Given the description of an element on the screen output the (x, y) to click on. 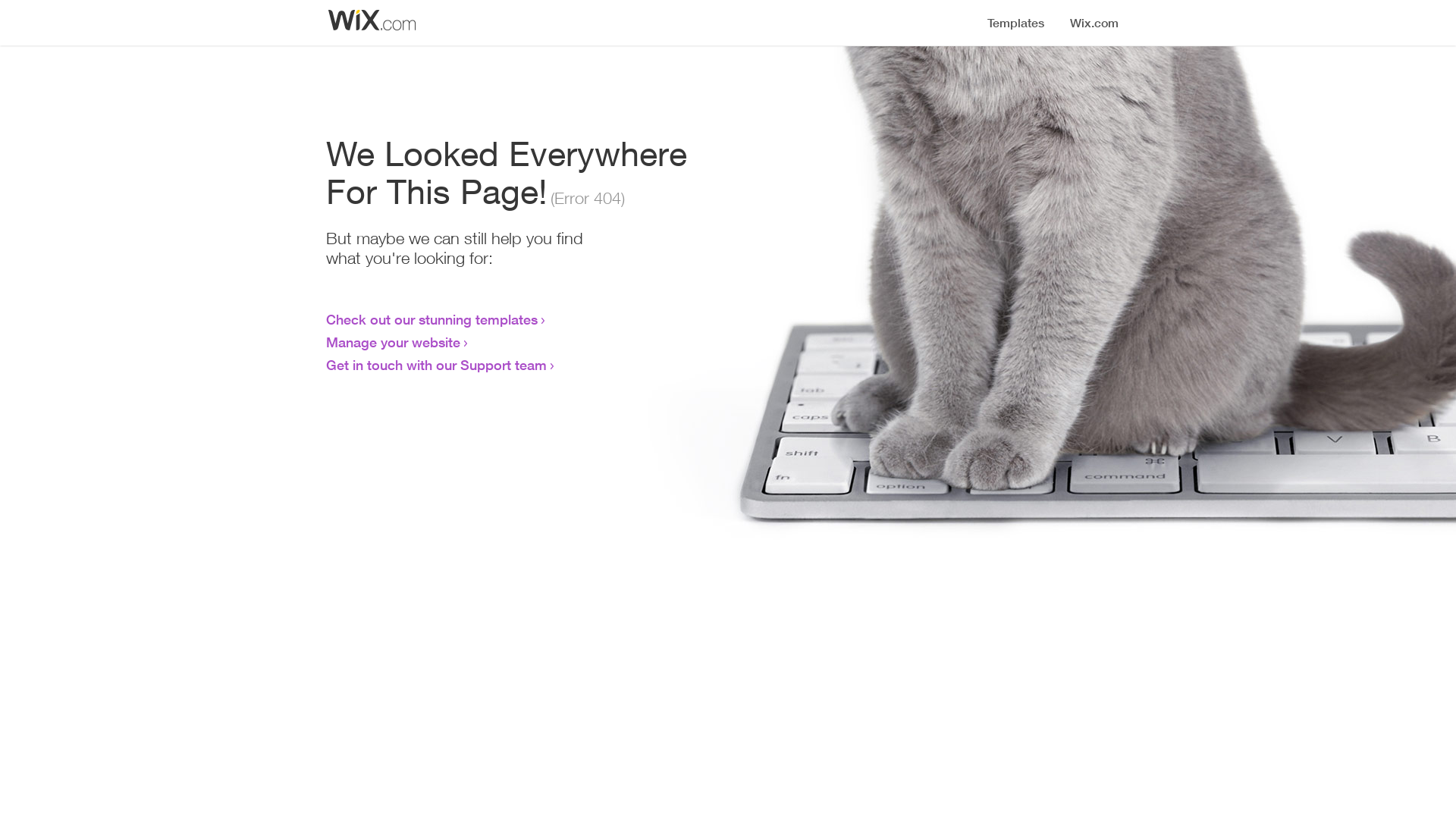
Check out our stunning templates Element type: text (431, 318)
Manage your website Element type: text (393, 341)
Get in touch with our Support team Element type: text (436, 364)
